Given the description of an element on the screen output the (x, y) to click on. 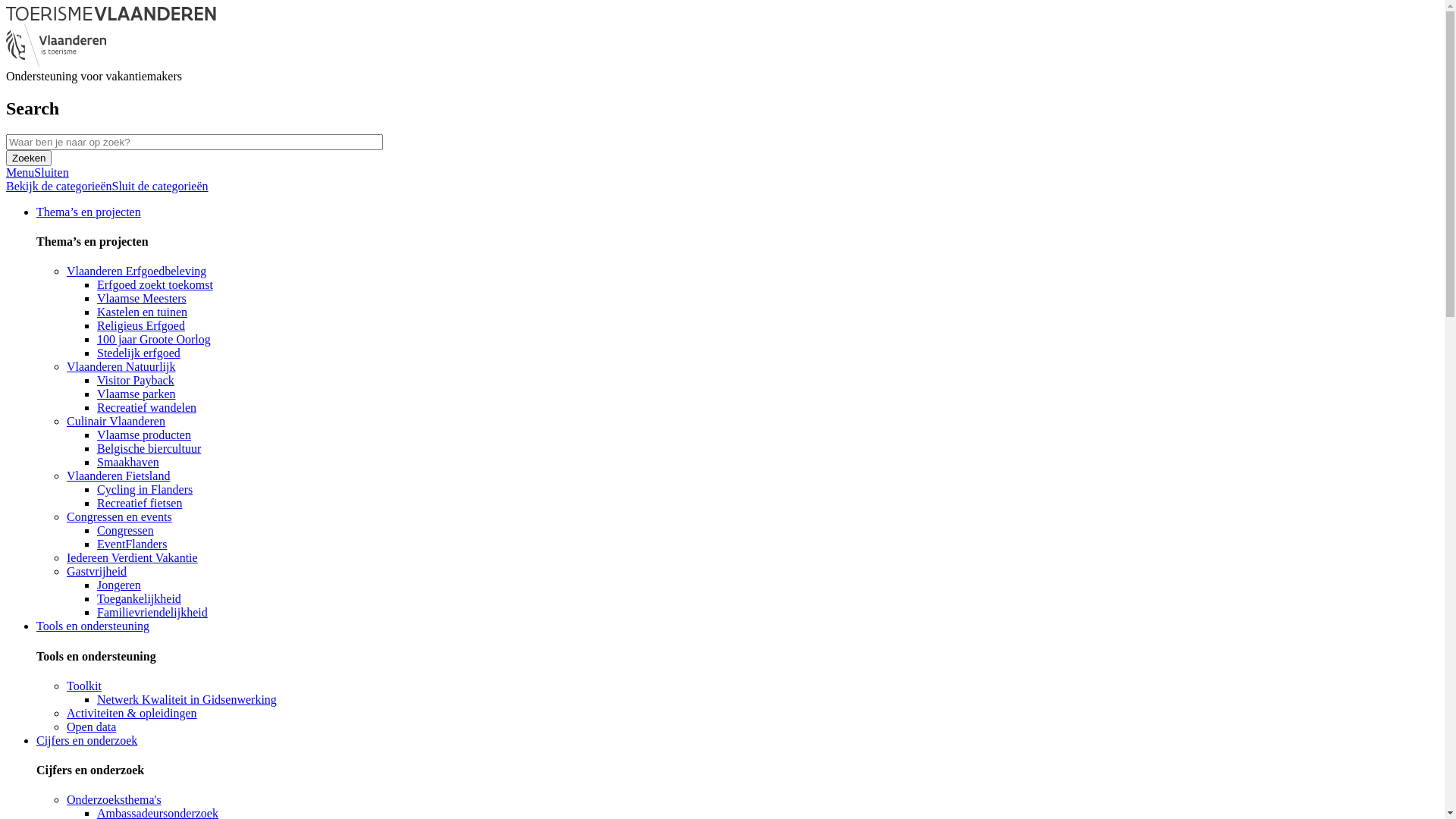
Erfgoed zoekt toekomst Element type: text (155, 284)
Belgische biercultuur Element type: text (148, 448)
Home Element type: hover (111, 16)
EventFlanders Element type: text (131, 543)
Tools en ondersteuning Element type: text (92, 625)
Culinair Vlaanderen Element type: text (115, 420)
Vlaanderen Erfgoedbeleving Element type: text (136, 270)
Cycling in Flanders Element type: text (144, 489)
Congressen Element type: text (125, 530)
Toegankelijkheid Element type: text (139, 598)
Recreatief fietsen Element type: text (139, 502)
Visitor Payback Element type: text (135, 379)
Iedereen Verdient Vakantie Element type: text (131, 557)
Zoeken Element type: text (28, 158)
Cijfers en onderzoek Element type: text (86, 740)
Vlaamse producten Element type: text (144, 434)
Open data Element type: text (91, 726)
Jongeren Element type: text (119, 584)
Stedelijk erfgoed Element type: text (138, 352)
Congressen en events Element type: text (119, 516)
Recreatief wandelen Element type: text (146, 407)
Activiteiten & opleidingen Element type: text (131, 712)
Kastelen en tuinen Element type: text (142, 311)
Gastvrijheid Element type: text (96, 570)
Familievriendelijkheid Element type: text (152, 611)
Netwerk Kwaliteit in Gidsenwerking Element type: text (186, 699)
Overslaan en naar de inhoud gaan Element type: text (6, 6)
Mobile menu expand icon
MenuSluiten Element type: text (37, 172)
Vlaamse Meesters Element type: text (141, 297)
Smaakhaven Element type: text (128, 461)
Vlaanderen Natuurlijk Element type: text (120, 366)
Vlaamse parken Element type: text (136, 393)
Vlaanderen Fietsland Element type: text (117, 475)
Toolkit Element type: text (83, 685)
100 jaar Groote Oorlog Element type: text (153, 338)
Religieus Erfgoed Element type: text (141, 325)
Onderzoeksthema's Element type: text (113, 799)
